Given the description of an element on the screen output the (x, y) to click on. 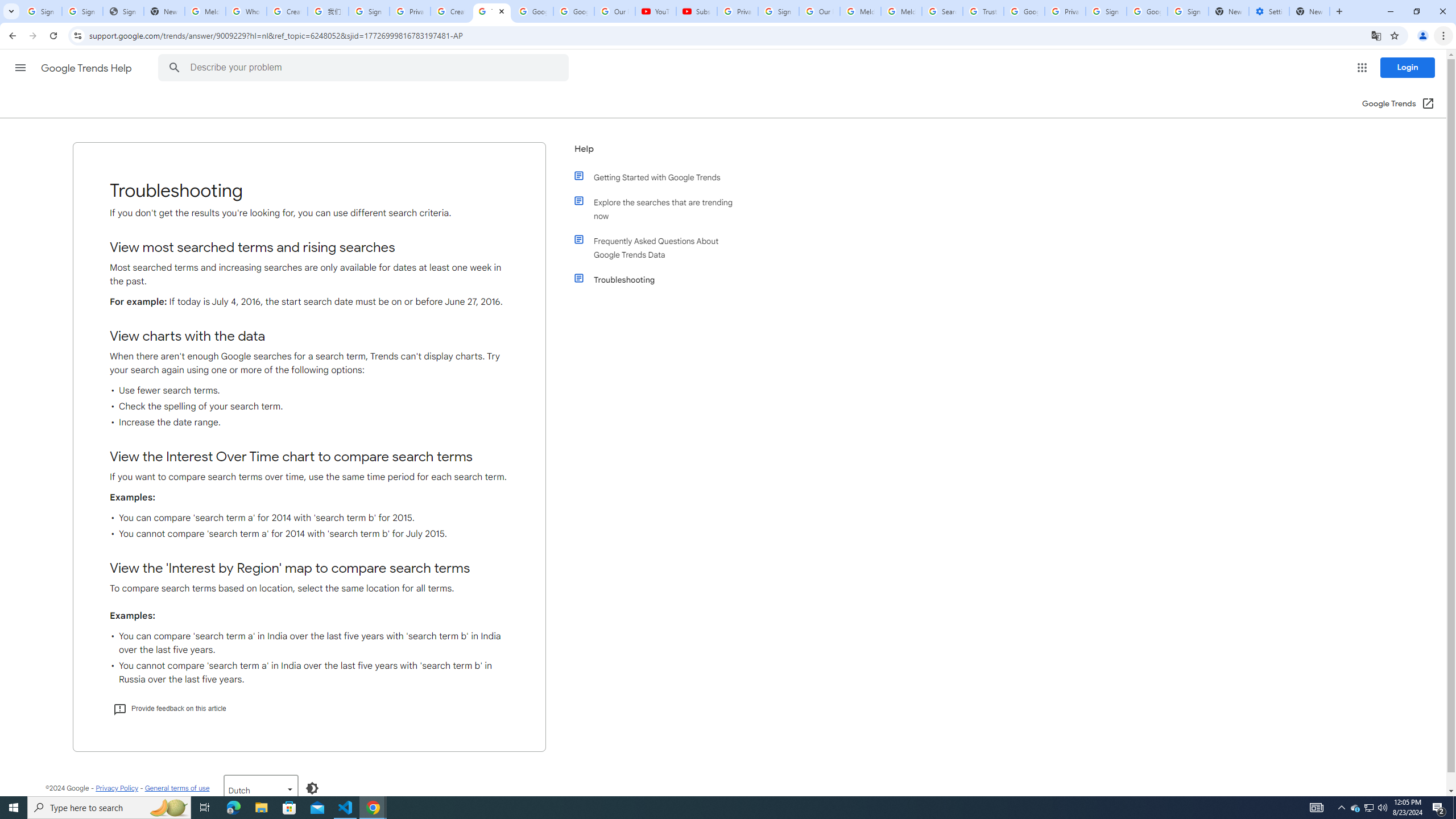
Sign in - Google Accounts (81, 11)
Sign in - Google Accounts (1105, 11)
Main menu (20, 67)
Google Trends Help (86, 68)
Sign in - Google Accounts (1187, 11)
Settings - Addresses and more (1268, 11)
